Given the description of an element on the screen output the (x, y) to click on. 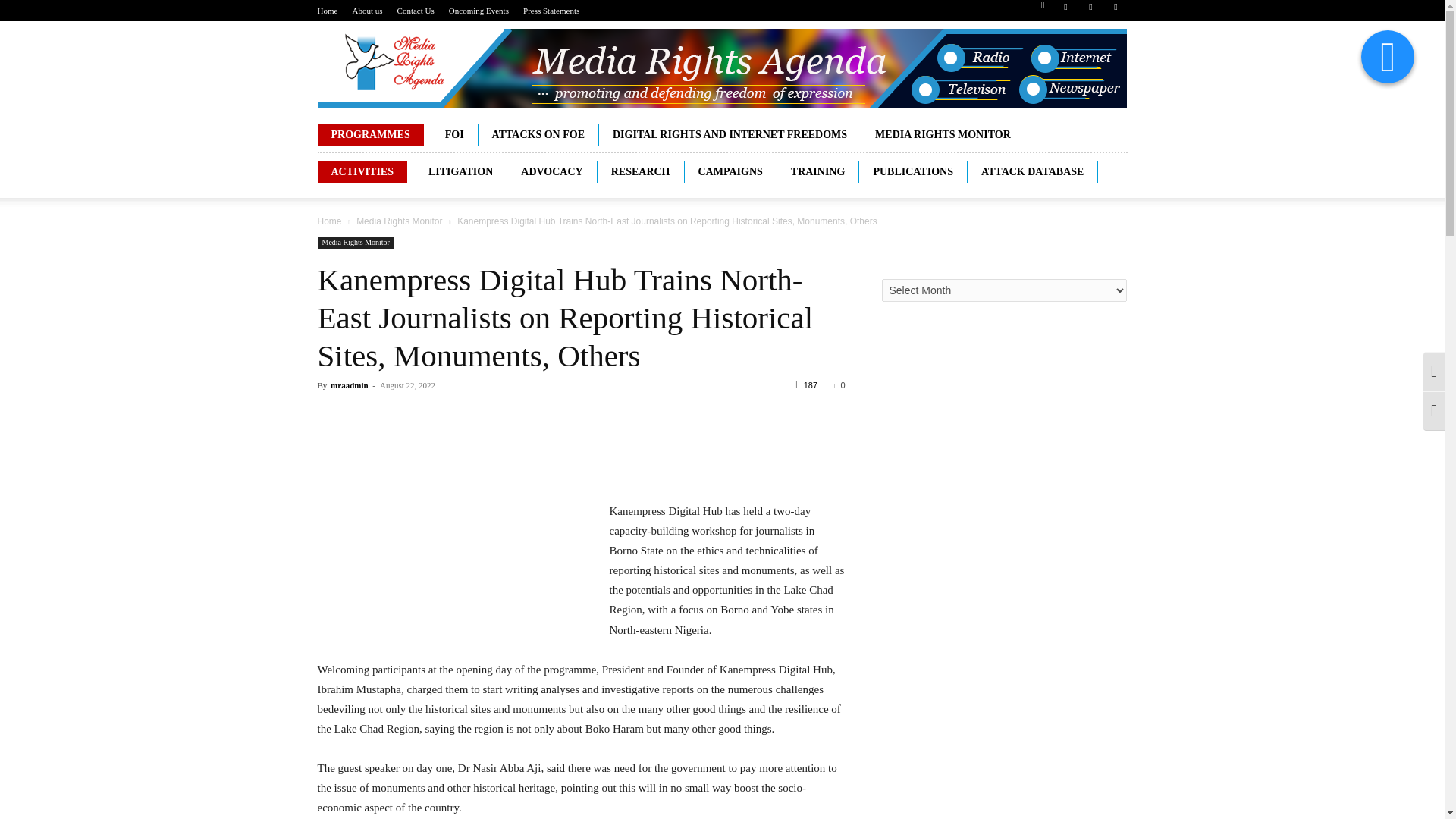
Media Rights Agenda Logo (721, 68)
Search (1085, 64)
Contact Us (415, 10)
Facebook (1065, 11)
About us (366, 10)
Linkedin (1090, 11)
View all posts in Media Rights Monitor (399, 221)
Oncoming Events (478, 10)
Press Statements (550, 10)
Home (327, 10)
Twitter (1114, 11)
